Given the description of an element on the screen output the (x, y) to click on. 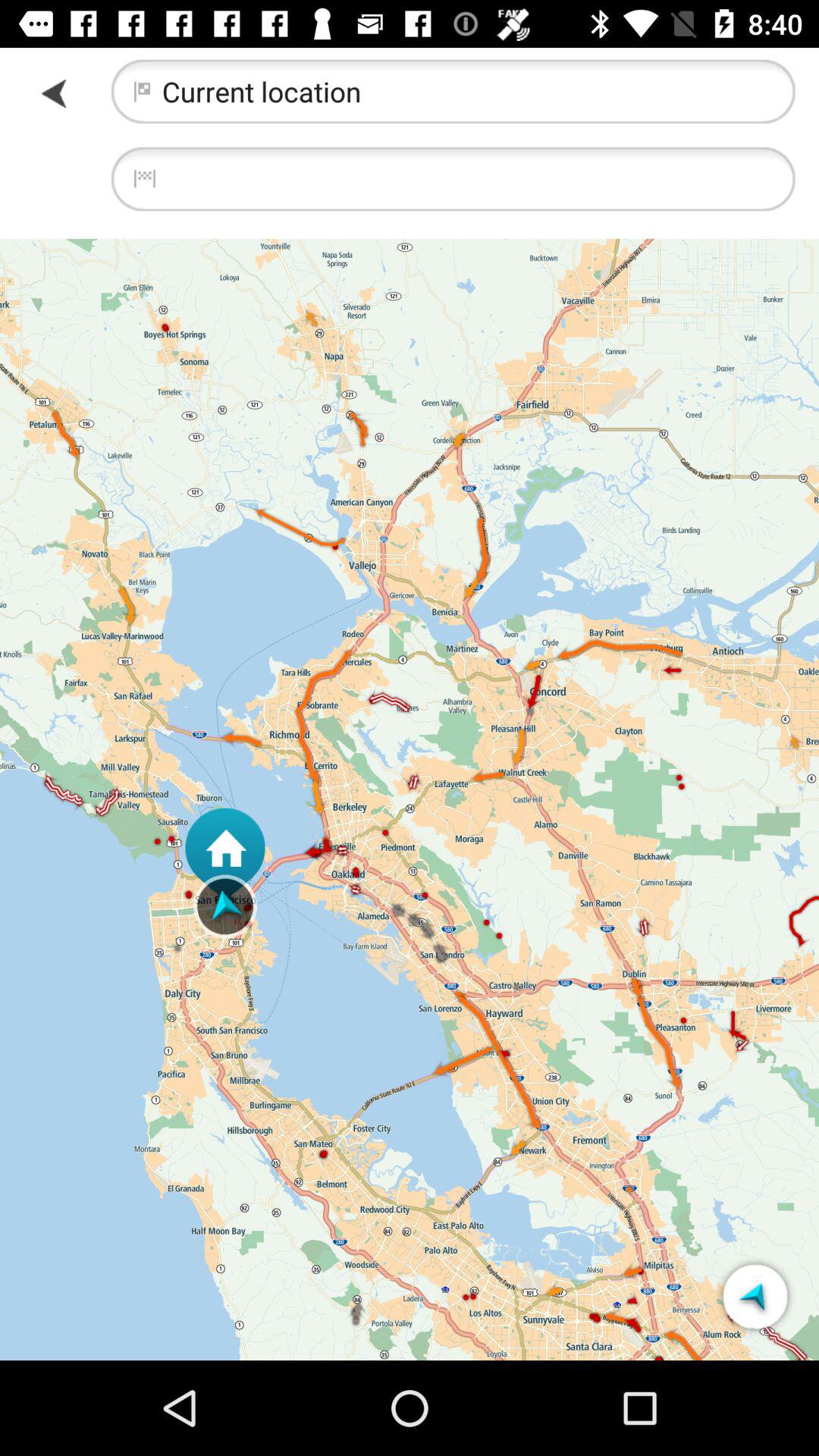
location search (453, 179)
